Given the description of an element on the screen output the (x, y) to click on. 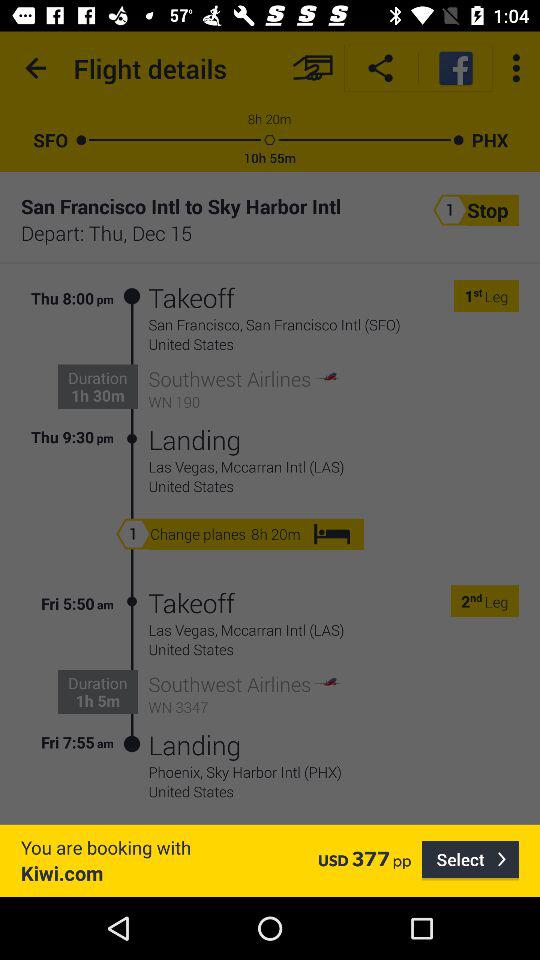
turn off the icon above the sfo icon (36, 68)
